Given the description of an element on the screen output the (x, y) to click on. 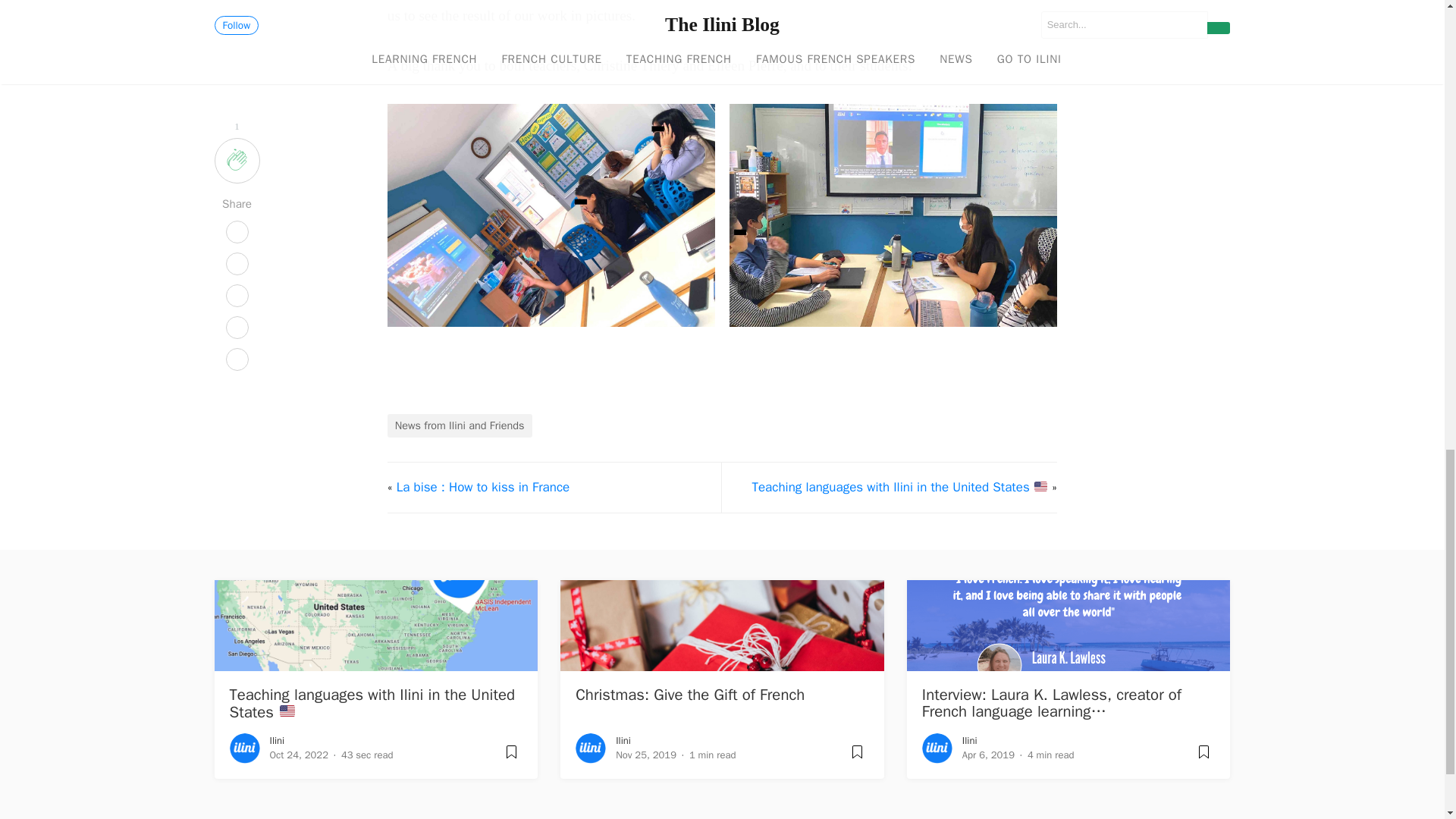
Teaching languages with Ilini in the United States (899, 487)
Ilini (969, 739)
Ilini (622, 739)
Christmas: Give the Gift of French (690, 694)
La bise : How to kiss in France (483, 487)
Ilini (277, 739)
News from Ilini and Friends (459, 426)
Teaching languages with Ilini in the United States (372, 702)
